Given the description of an element on the screen output the (x, y) to click on. 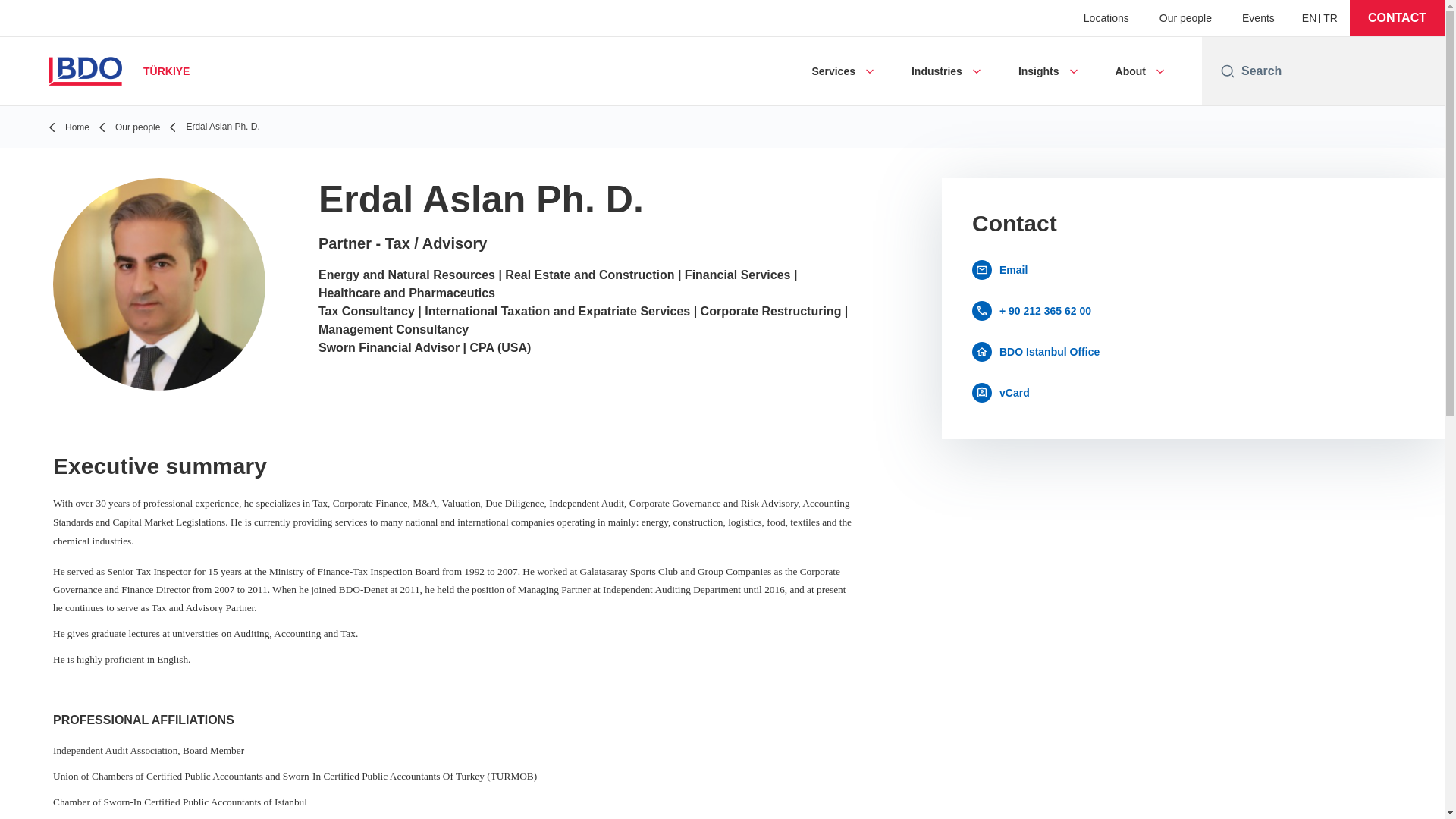
Locations (1106, 18)
EN (1308, 17)
Our people (1184, 18)
Search (1336, 70)
TR (1330, 17)
Services (833, 71)
Industries (936, 71)
Events (1258, 18)
